Given the description of an element on the screen output the (x, y) to click on. 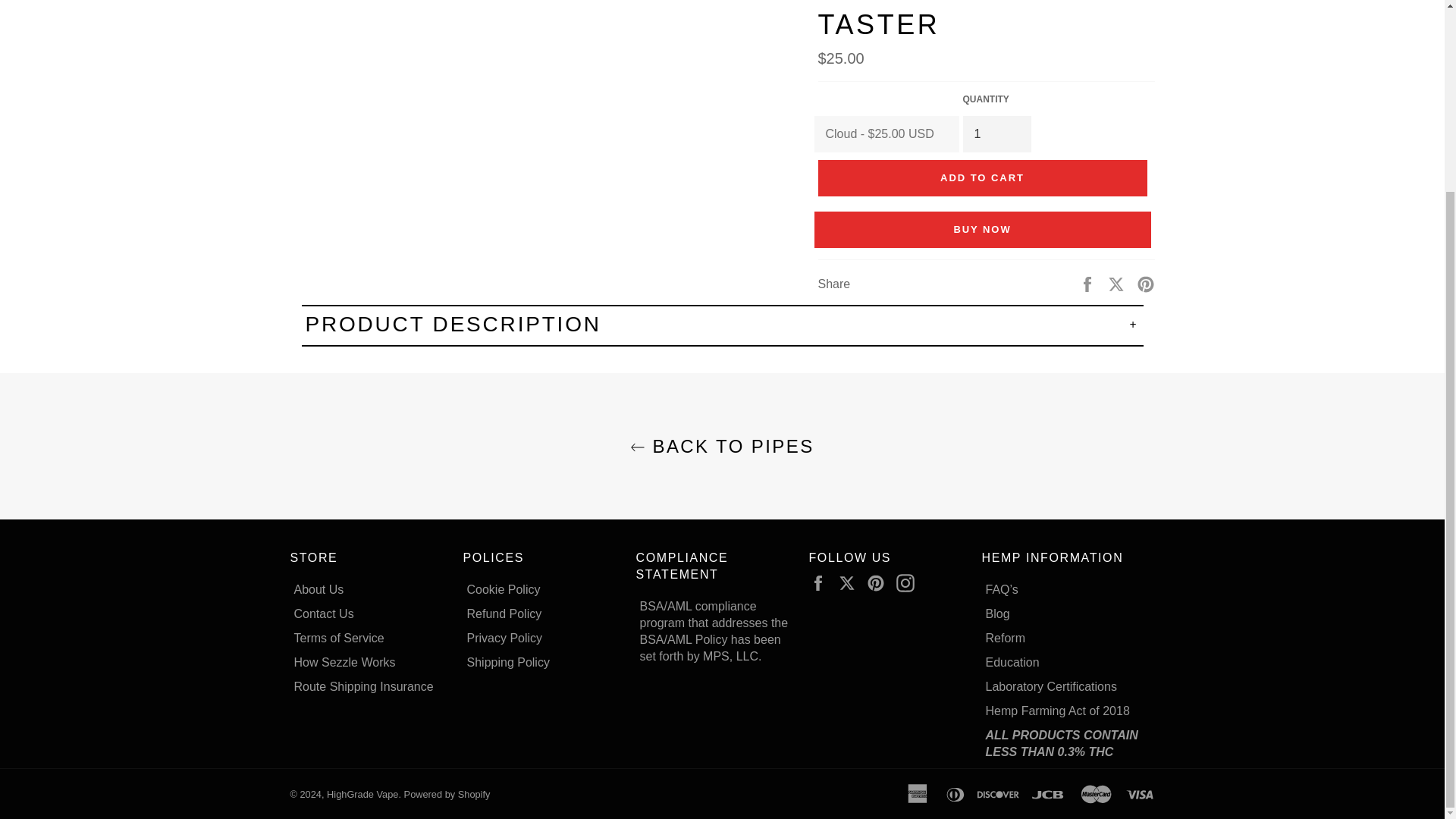
Contact Us (323, 613)
Refund Policy (504, 613)
Cookie Policy (503, 589)
Shipping Policy (508, 662)
How Sezzle Works (345, 662)
HighGrade Vape on Pinterest (879, 583)
Buy (982, 229)
HighGrade Vape on Instagram (908, 583)
Privacy Policy (505, 637)
Tweet on Twitter (1117, 282)
